Given the description of an element on the screen output the (x, y) to click on. 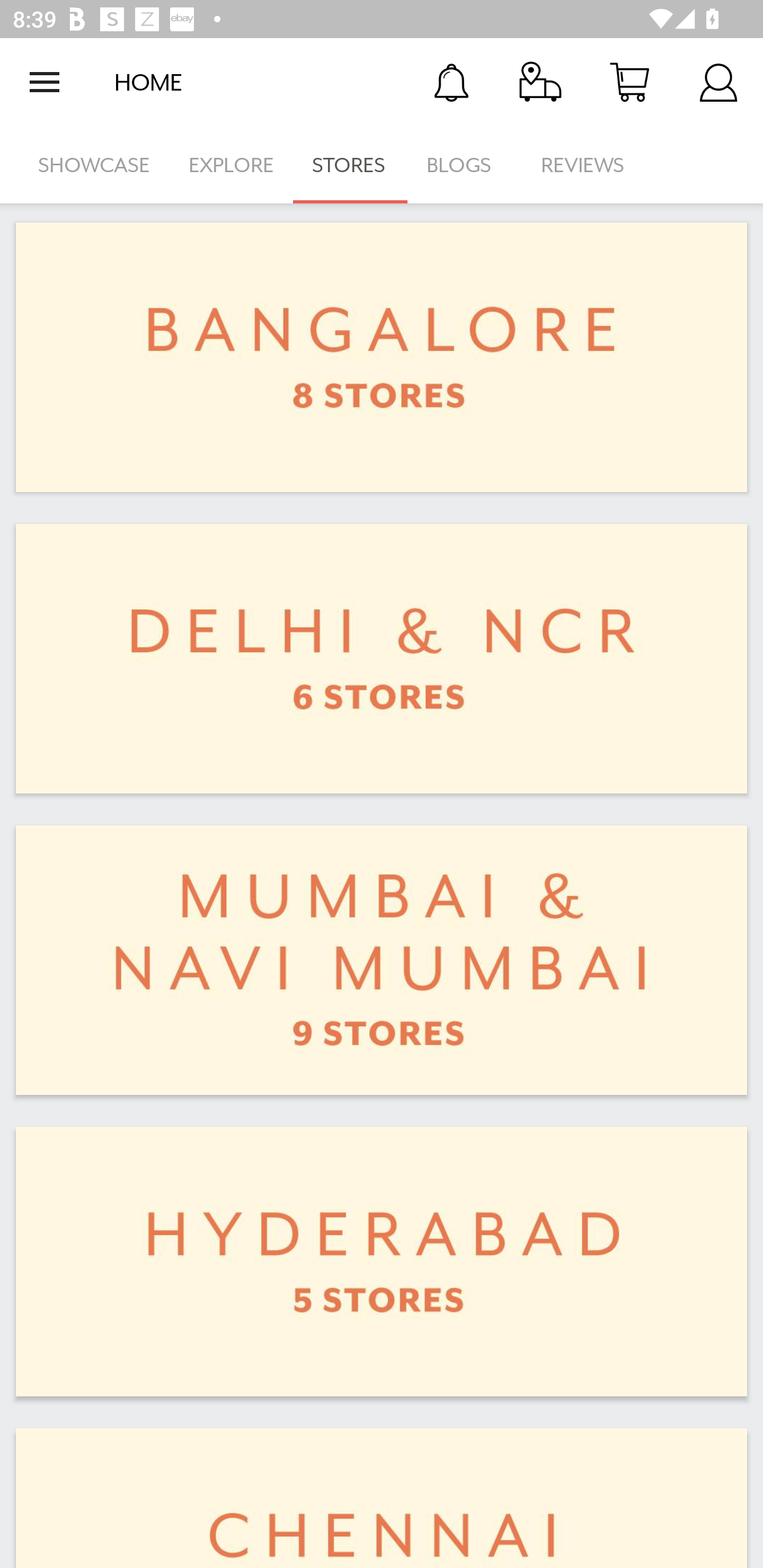
Open navigation drawer (44, 82)
Notification (450, 81)
Track Order (540, 81)
Cart (629, 81)
Account Details (718, 81)
SHOWCASE (94, 165)
EXPLORE (230, 165)
STORES (349, 165)
BLOGS (464, 165)
REVIEWS (582, 165)
